Given the description of an element on the screen output the (x, y) to click on. 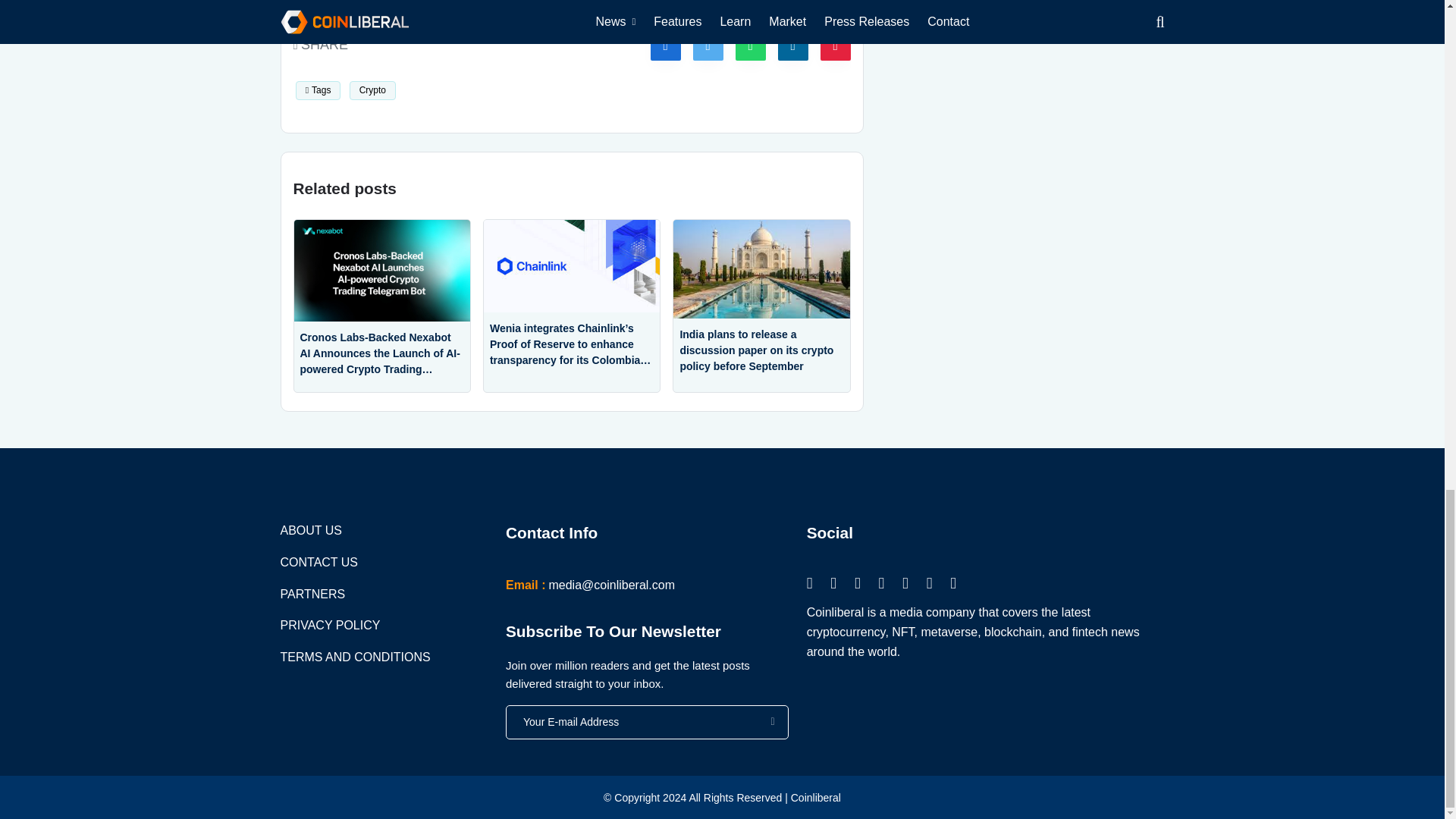
share on twitter (708, 45)
share on pinterest (835, 45)
share on facebook (665, 45)
share on whatsapp (750, 45)
Crypto (372, 90)
share on linkedin (792, 45)
